Given the description of an element on the screen output the (x, y) to click on. 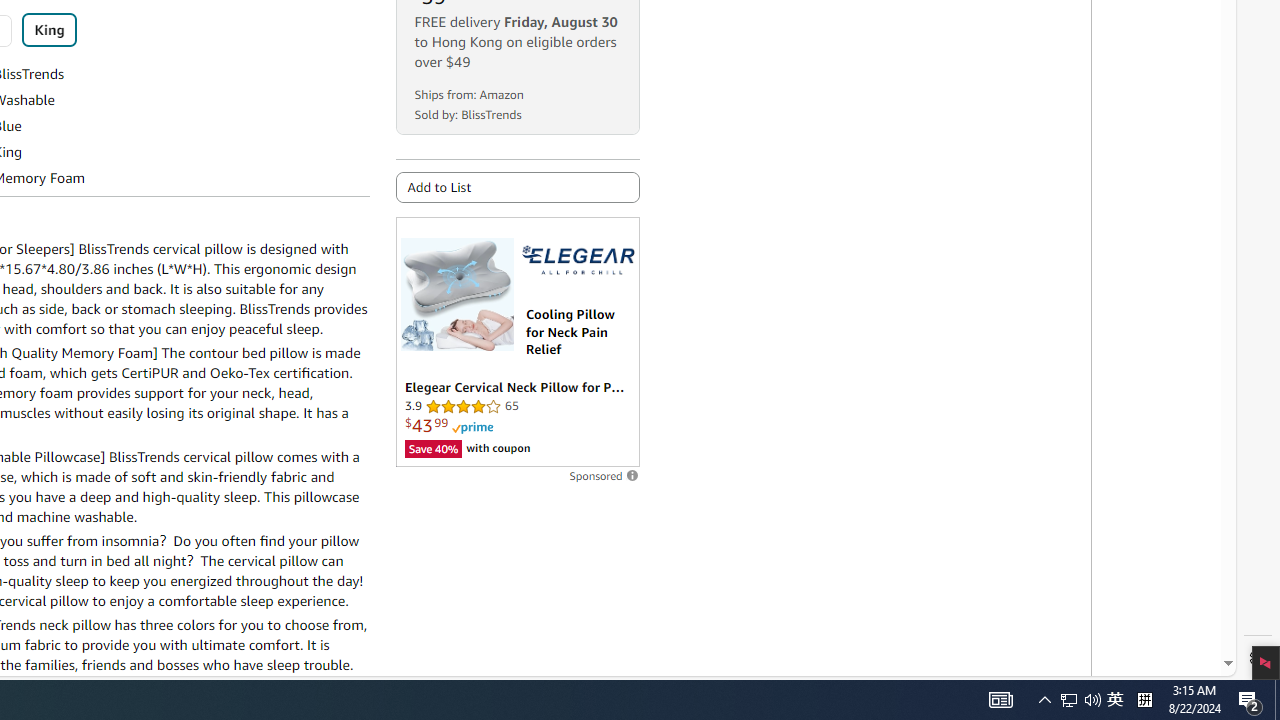
Add to List (516, 187)
Logo (577, 259)
Prime (472, 427)
King (49, 29)
Sponsored ad (516, 341)
